Given the description of an element on the screen output the (x, y) to click on. 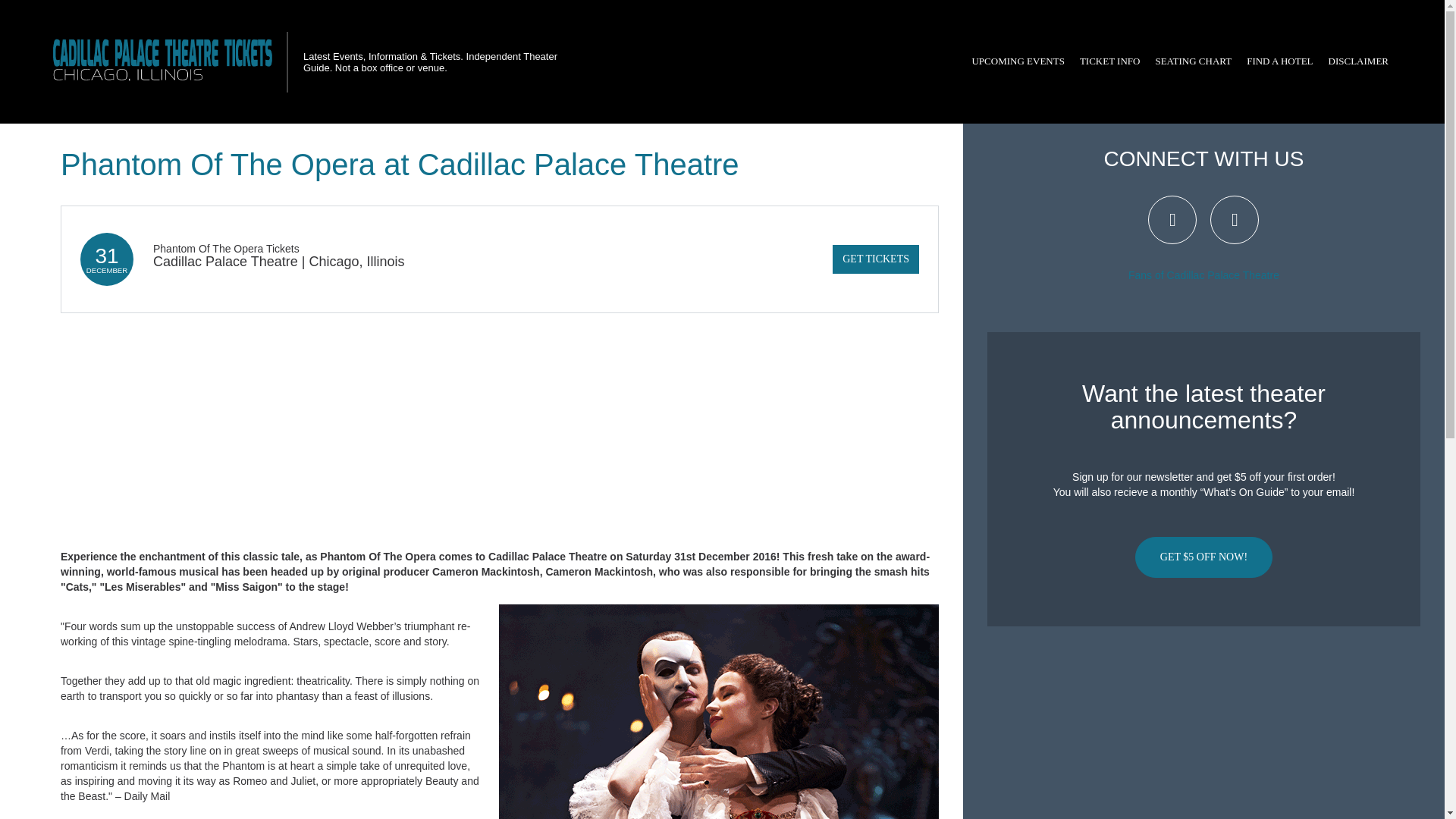
Phantom Of The Opera at Cadillac Palace Theatre (719, 711)
Phantom Of The Opera Tickets (225, 248)
UPCOMING EVENTS (1017, 61)
FIND A HOTEL (1279, 61)
GET TICKETS (875, 258)
DISCLAIMER (1358, 61)
SEATING CHART (1193, 61)
TICKET INFO (1109, 61)
Advertisement (1204, 728)
